Given the description of an element on the screen output the (x, y) to click on. 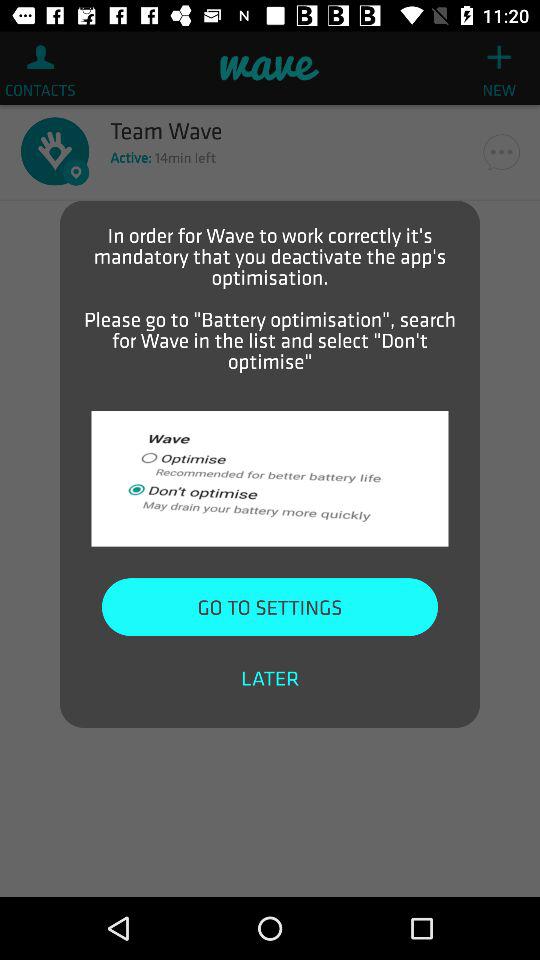
click the in order for item (270, 297)
